Given the description of an element on the screen output the (x, y) to click on. 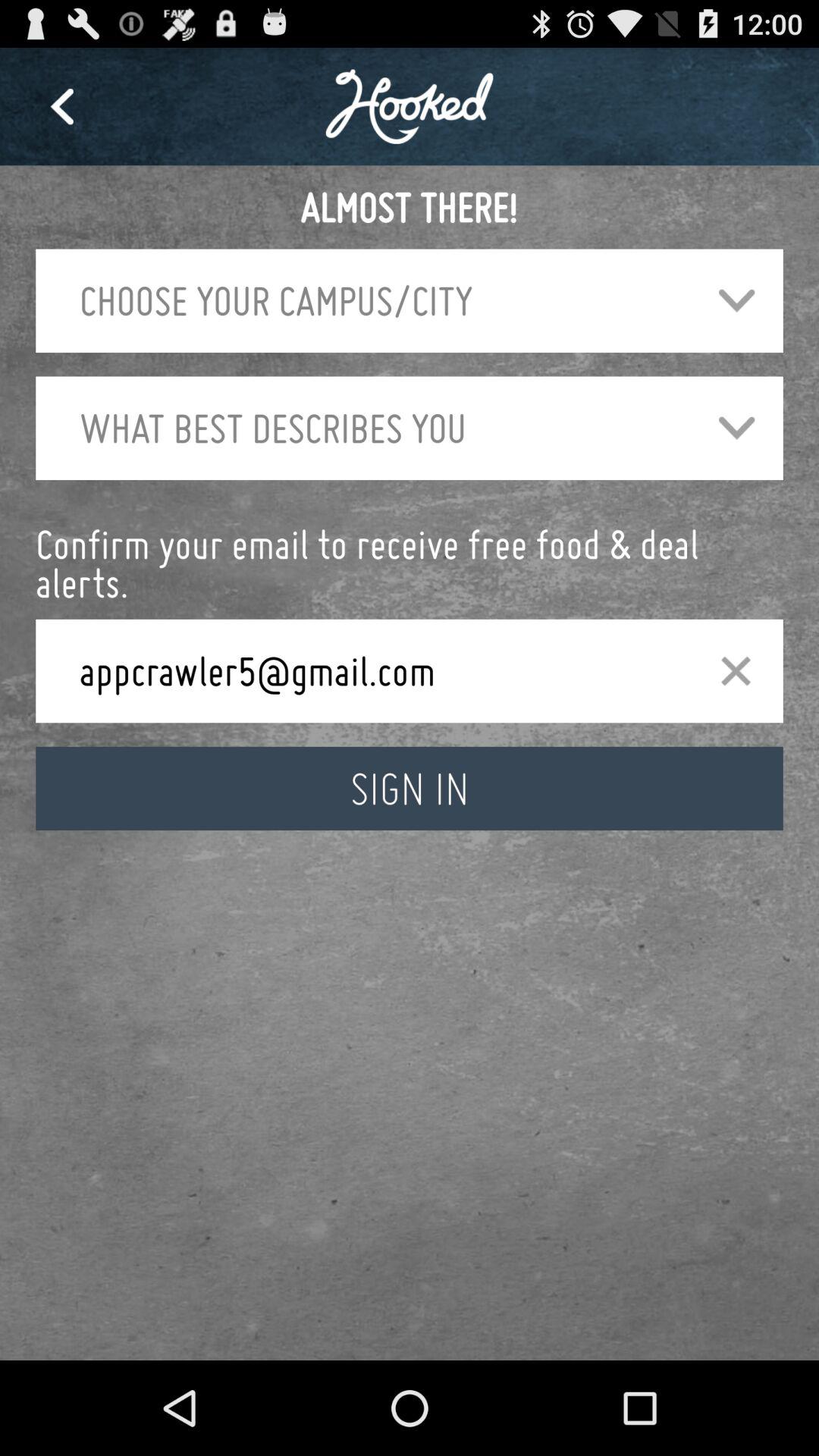
select appcrawler5@gmail.com (374, 670)
